Given the description of an element on the screen output the (x, y) to click on. 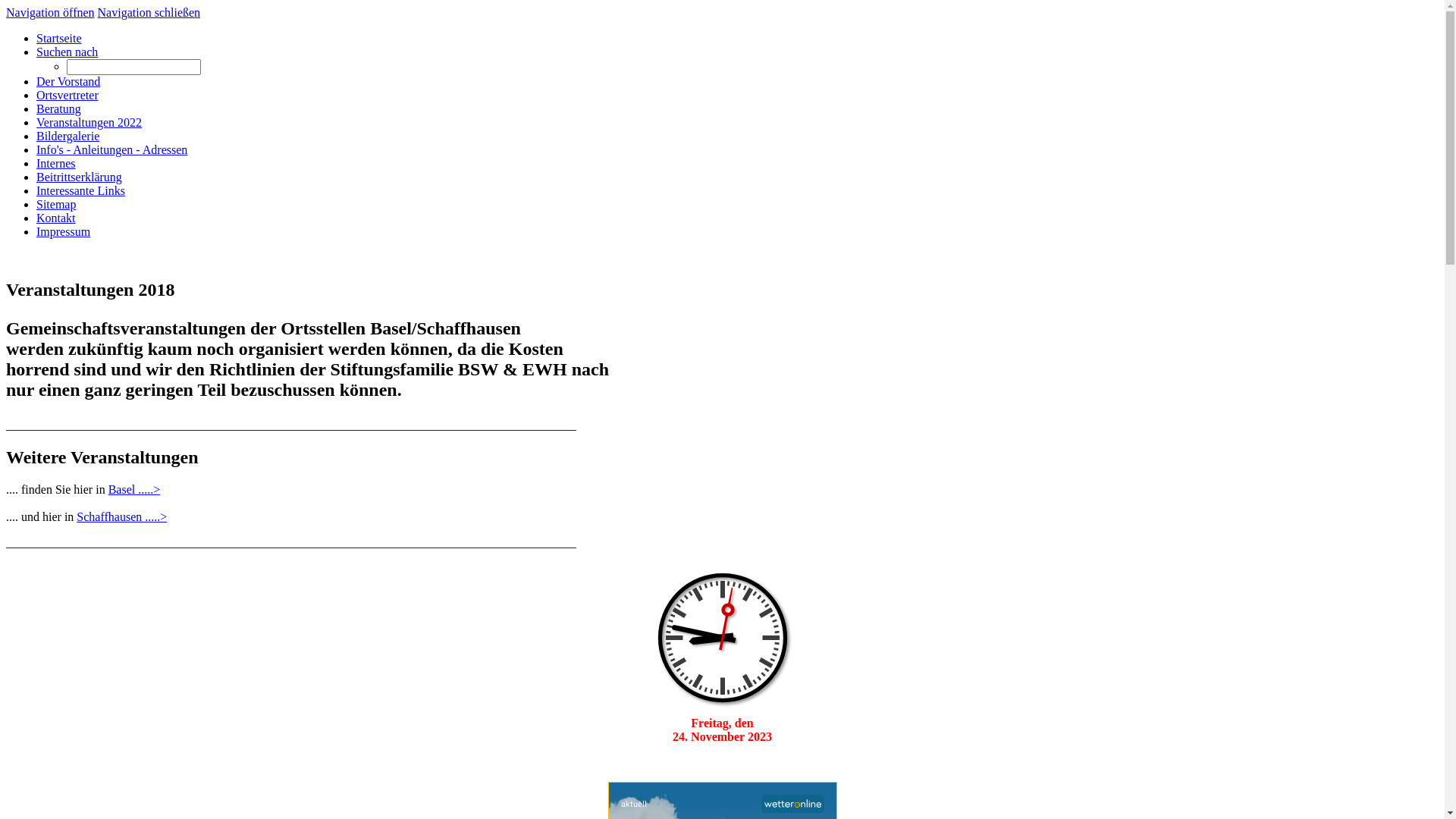
Info's - Anleitungen - Adressen Element type: text (111, 149)
Ortsvertreter Element type: text (67, 94)
Der Vorstand Element type: text (68, 81)
Interessante Links Element type: text (80, 190)
Internes Element type: text (55, 162)
Suchen nach Element type: text (66, 51)
Bildergalerie Element type: text (67, 135)
Veranstaltungen 2022 Element type: text (88, 122)
Beratung Element type: text (58, 108)
Kontakt Element type: text (55, 217)
Sitemap Element type: text (55, 203)
Basel .....> Element type: text (134, 489)
Schaffhausen .....> Element type: text (121, 516)
Impressum Element type: text (63, 231)
Startseite Element type: text (58, 37)
